Given the description of an element on the screen output the (x, y) to click on. 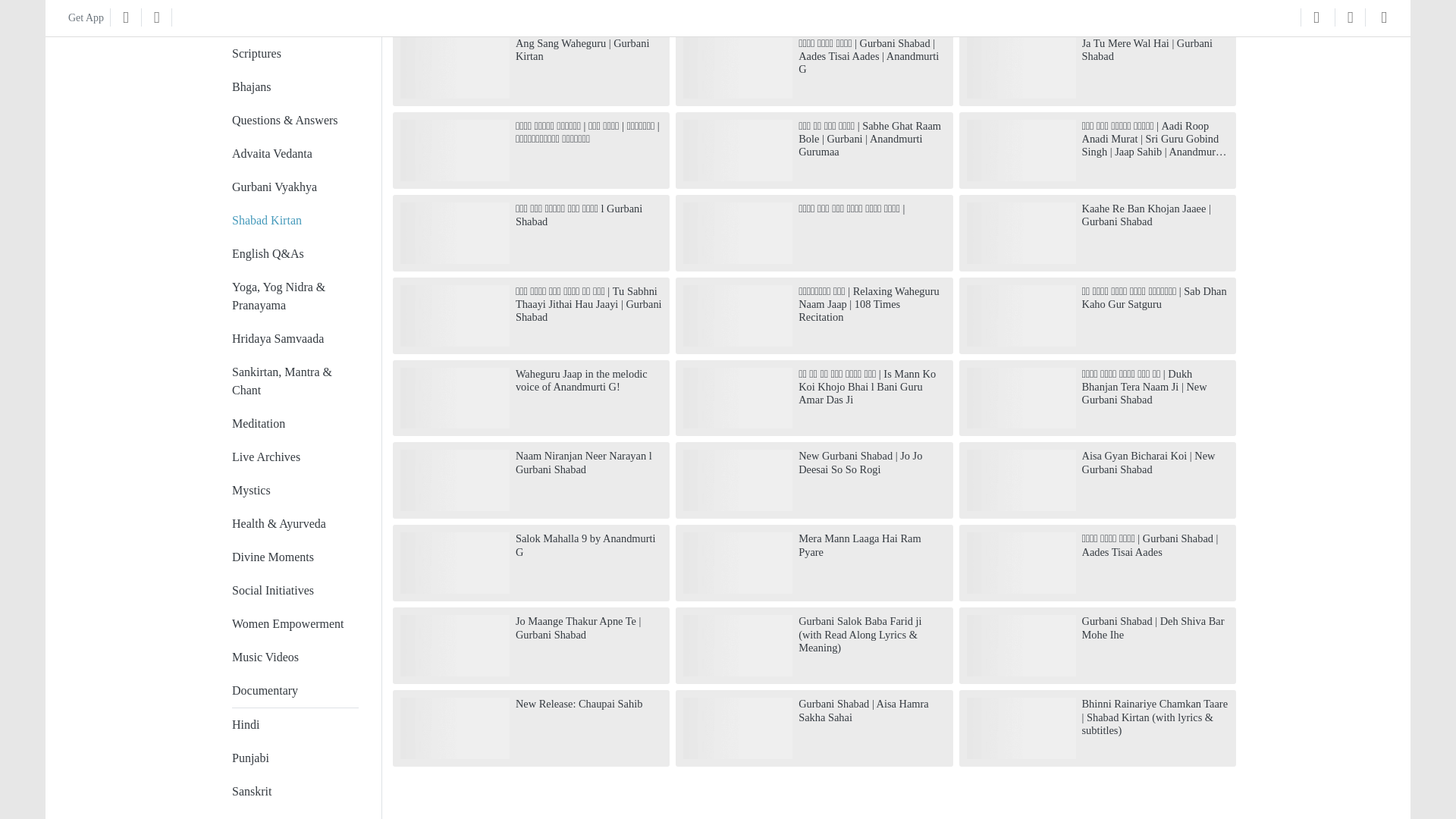
13 videos (294, 605)
Bhajans (250, 68)
Advaita Vedanta (272, 134)
47 videos (294, 505)
249 videos (294, 135)
99 videos (294, 405)
Scriptures (256, 34)
103 videos (294, 363)
51 videos (294, 471)
106 videos (294, 277)
